Given the description of an element on the screen output the (x, y) to click on. 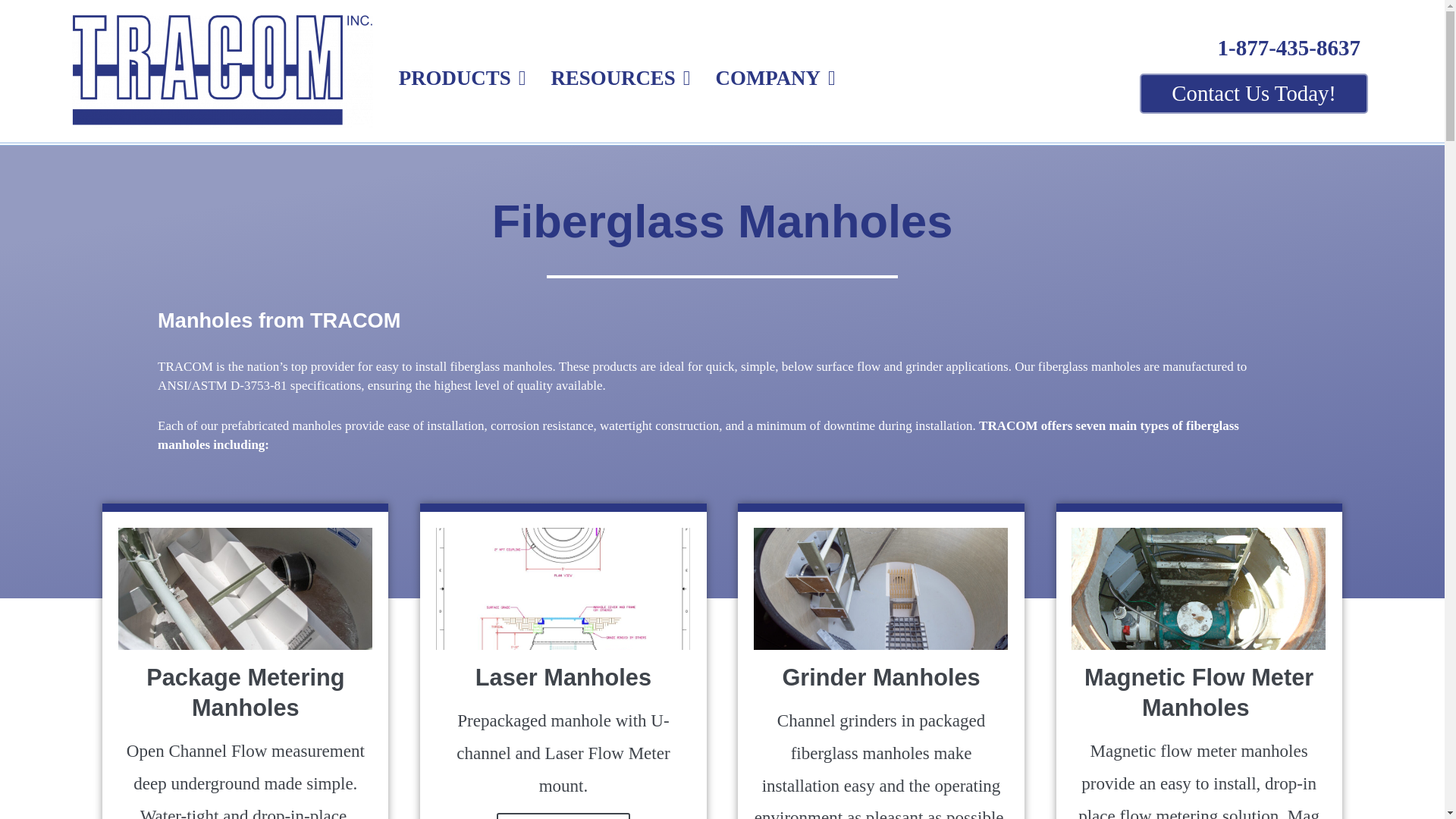
PRODUCTS (454, 78)
RESOURCES (612, 78)
